Given the description of an element on the screen output the (x, y) to click on. 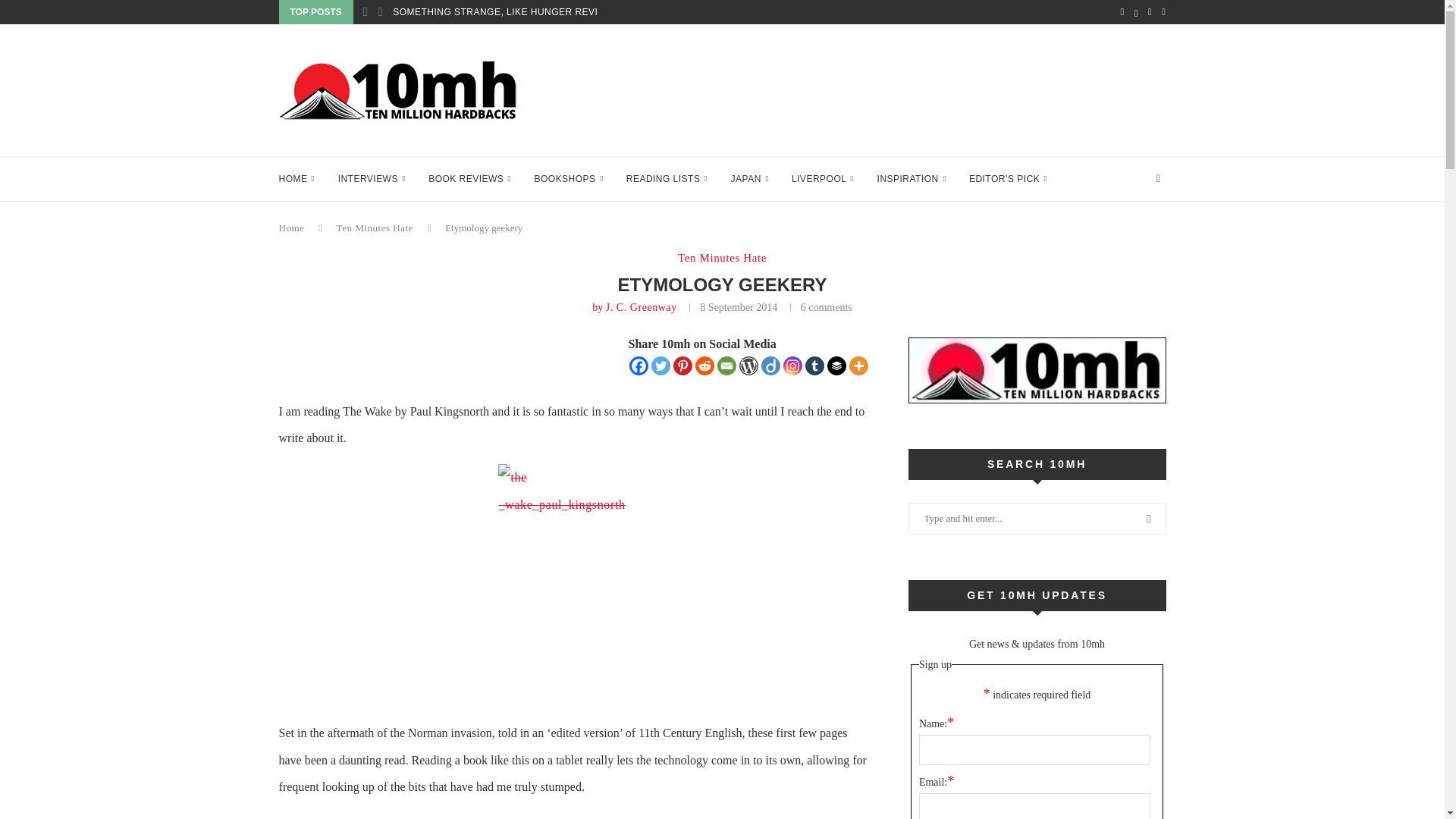
Ten Minutes Hate (374, 227)
Email (726, 365)
Facebook (637, 365)
BOOK REVIEWS (469, 178)
Pinterest (682, 365)
Ten Minutes Hate (722, 257)
J. C. Greenway (641, 307)
Reddit (704, 365)
Tumblr (814, 365)
READING LISTS (666, 178)
Instagram (792, 365)
WordPress (748, 365)
INTERVIEWS (371, 178)
Twitter (659, 365)
Diigo (770, 365)
